Given the description of an element on the screen output the (x, y) to click on. 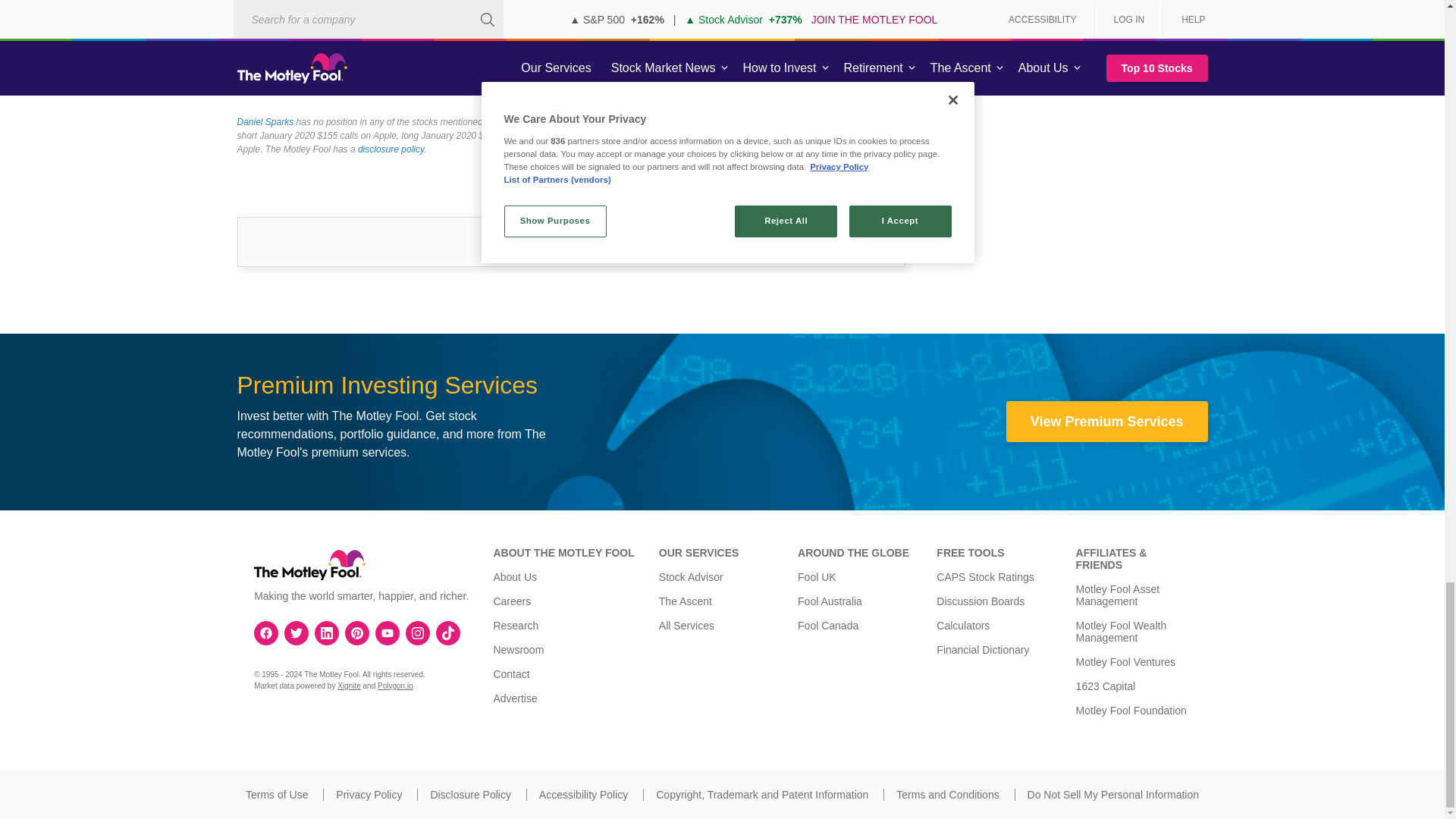
Disclosure Policy (470, 794)
Privacy Policy (368, 794)
Accessibility Policy (582, 794)
Terms and Conditions (947, 794)
Do Not Sell My Personal Information. (1112, 794)
Copyright, Trademark and Patent Information (761, 794)
Terms of Use (276, 794)
